Given the description of an element on the screen output the (x, y) to click on. 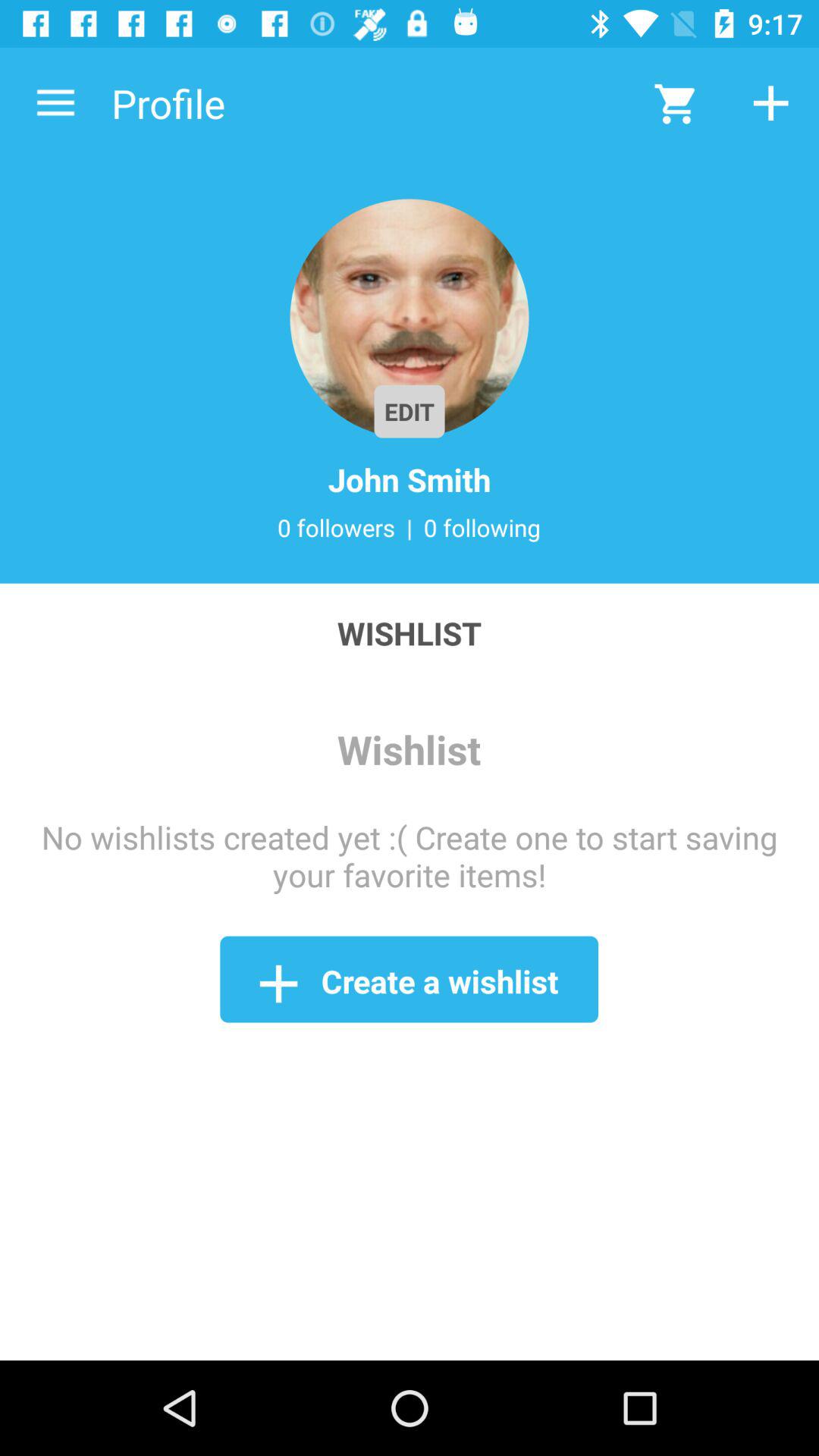
select the icon next to the profile icon (55, 103)
